Given the description of an element on the screen output the (x, y) to click on. 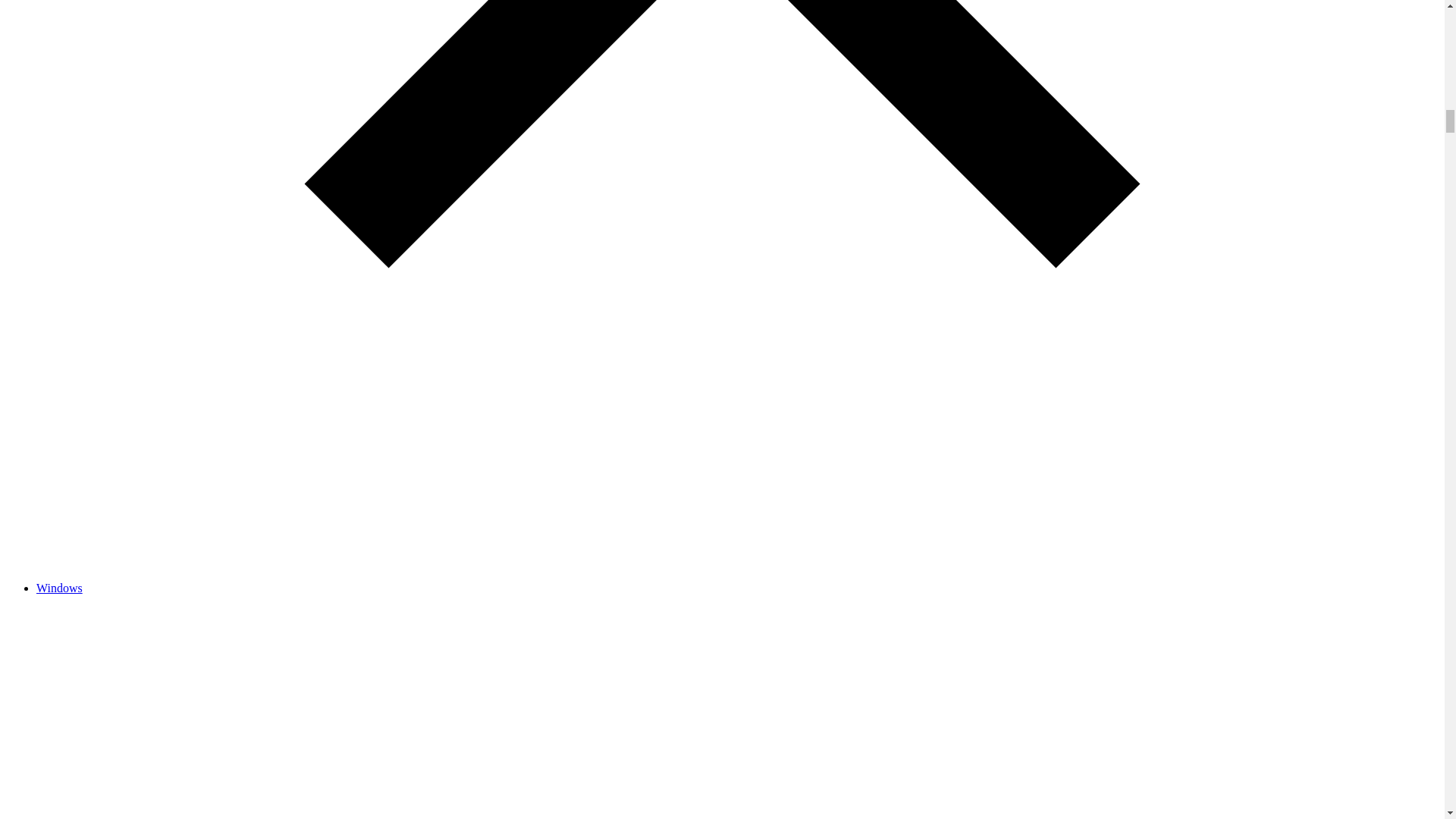
Windows (59, 587)
